Given the description of an element on the screen output the (x, y) to click on. 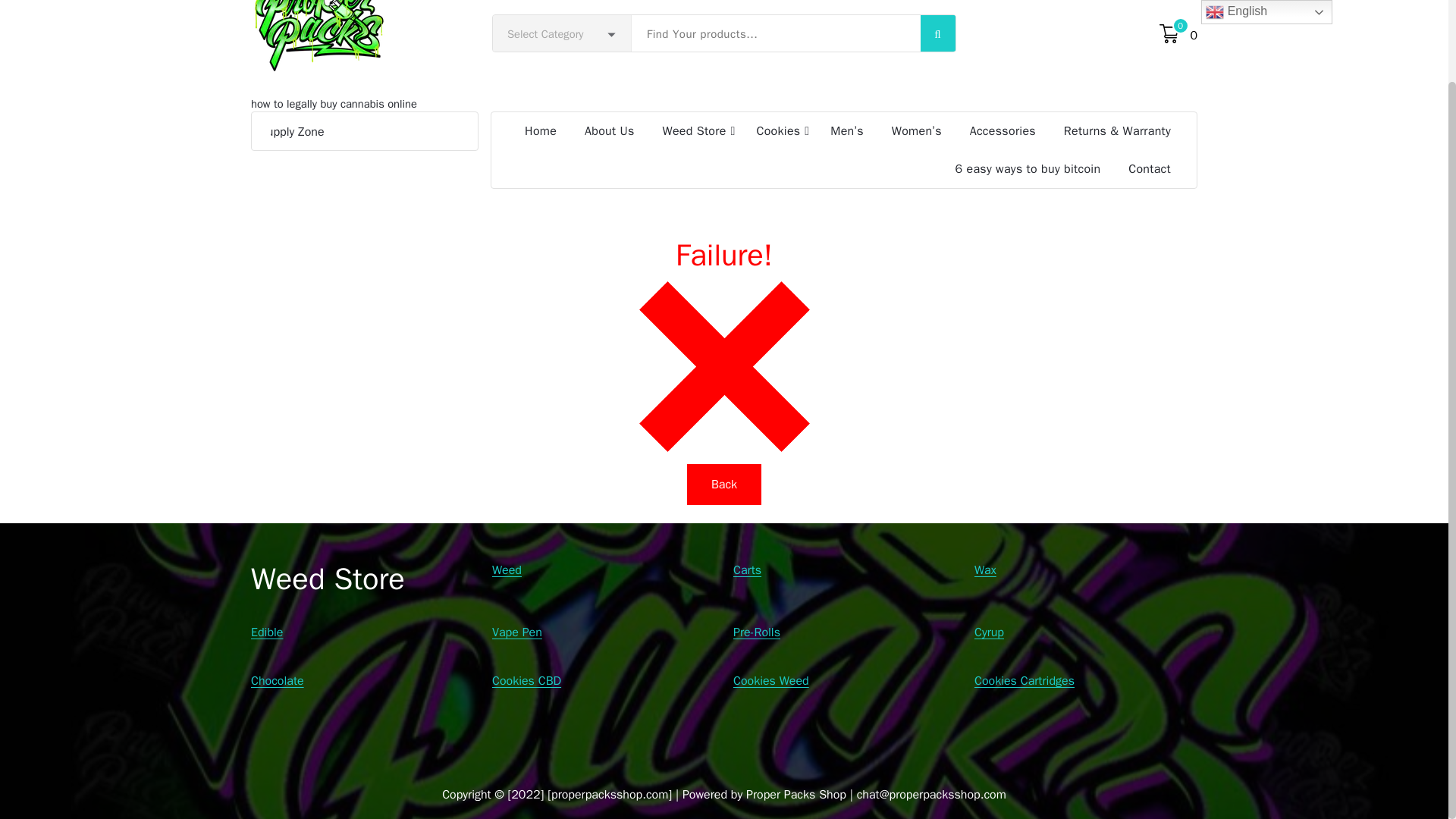
Home (540, 130)
6 easy ways to buy bitcoin (1027, 168)
Cookies (778, 130)
Weed Store (695, 130)
0 (1168, 33)
Weed Store (695, 130)
Accessories (1002, 130)
Contact (1149, 168)
Proper Packs Shop Supply Zone (239, 131)
Proper Packs Shop Supply Zone (364, 131)
About Us (609, 130)
About Us (609, 130)
Home (540, 130)
Cookies (778, 130)
